Given the description of an element on the screen output the (x, y) to click on. 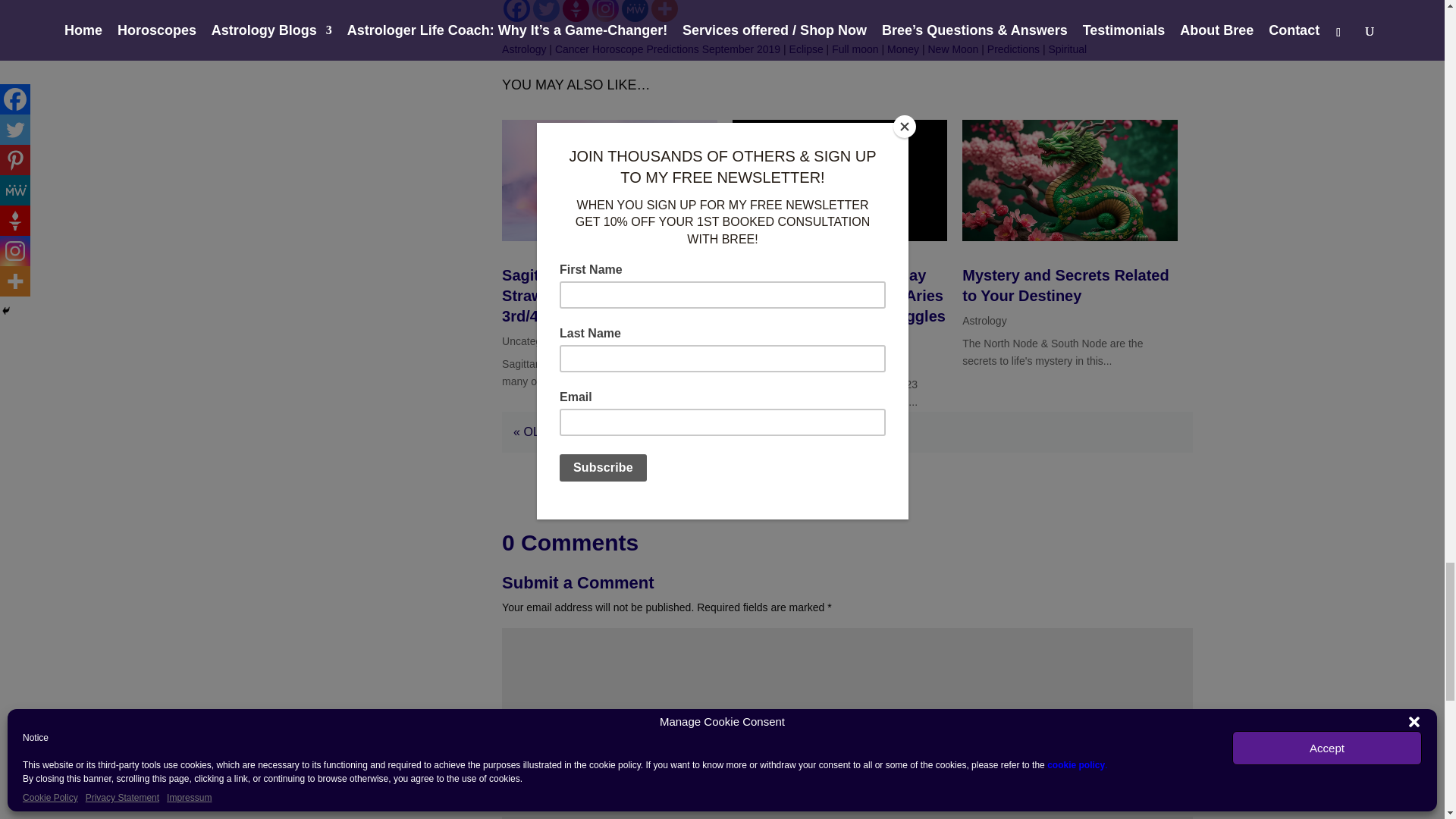
MeWe (634, 11)
More (664, 11)
Facebook (516, 11)
Instagram (605, 11)
Twitter (545, 11)
Gettr (575, 11)
